Given the description of an element on the screen output the (x, y) to click on. 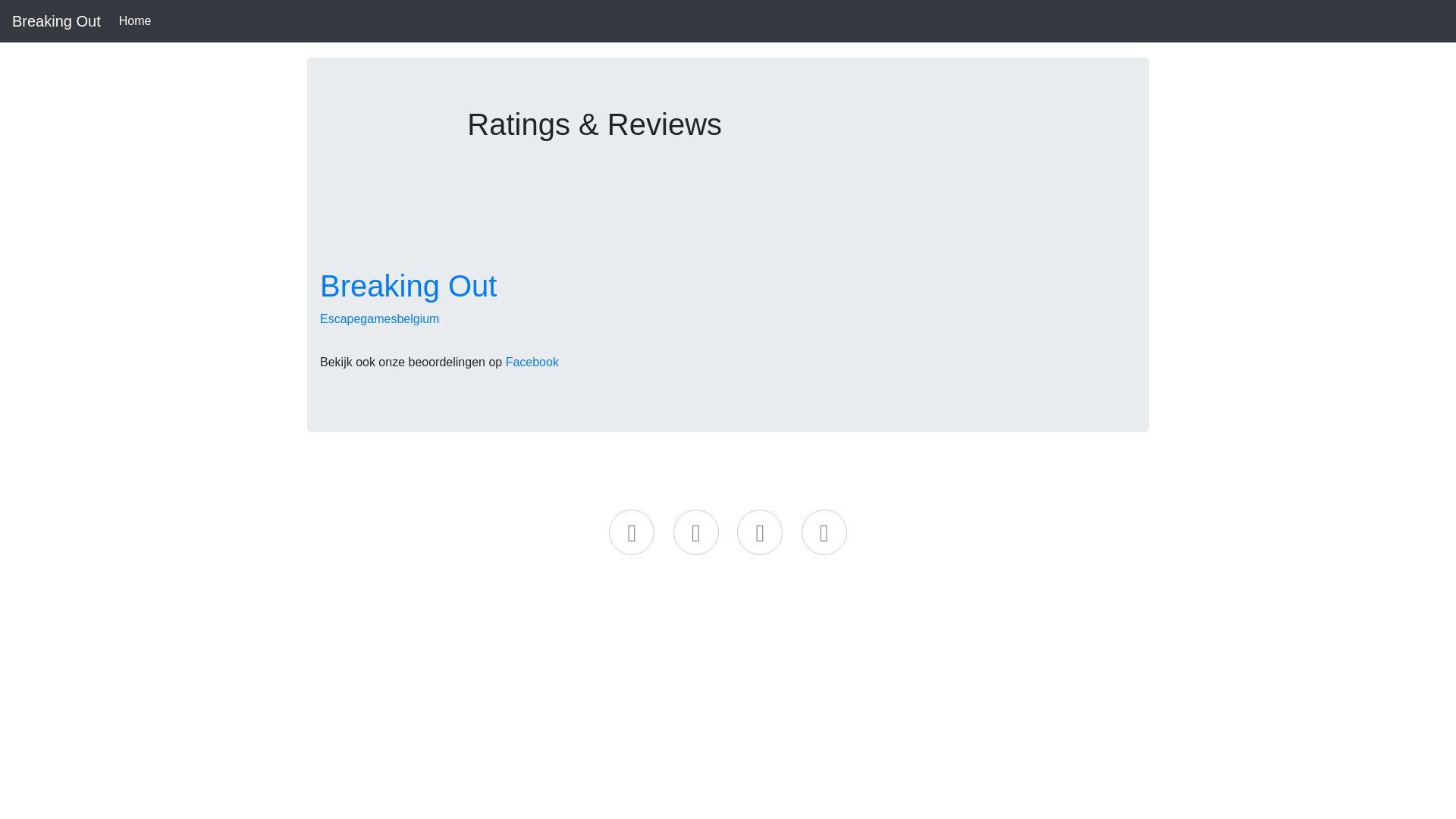
Escapegamesbelgium Element type: text (379, 318)
Breaking Out Element type: text (56, 21)
Breaking Out Element type: text (408, 285)
Home
(current) Element type: text (134, 21)
Facebook Element type: text (531, 361)
